Given the description of an element on the screen output the (x, y) to click on. 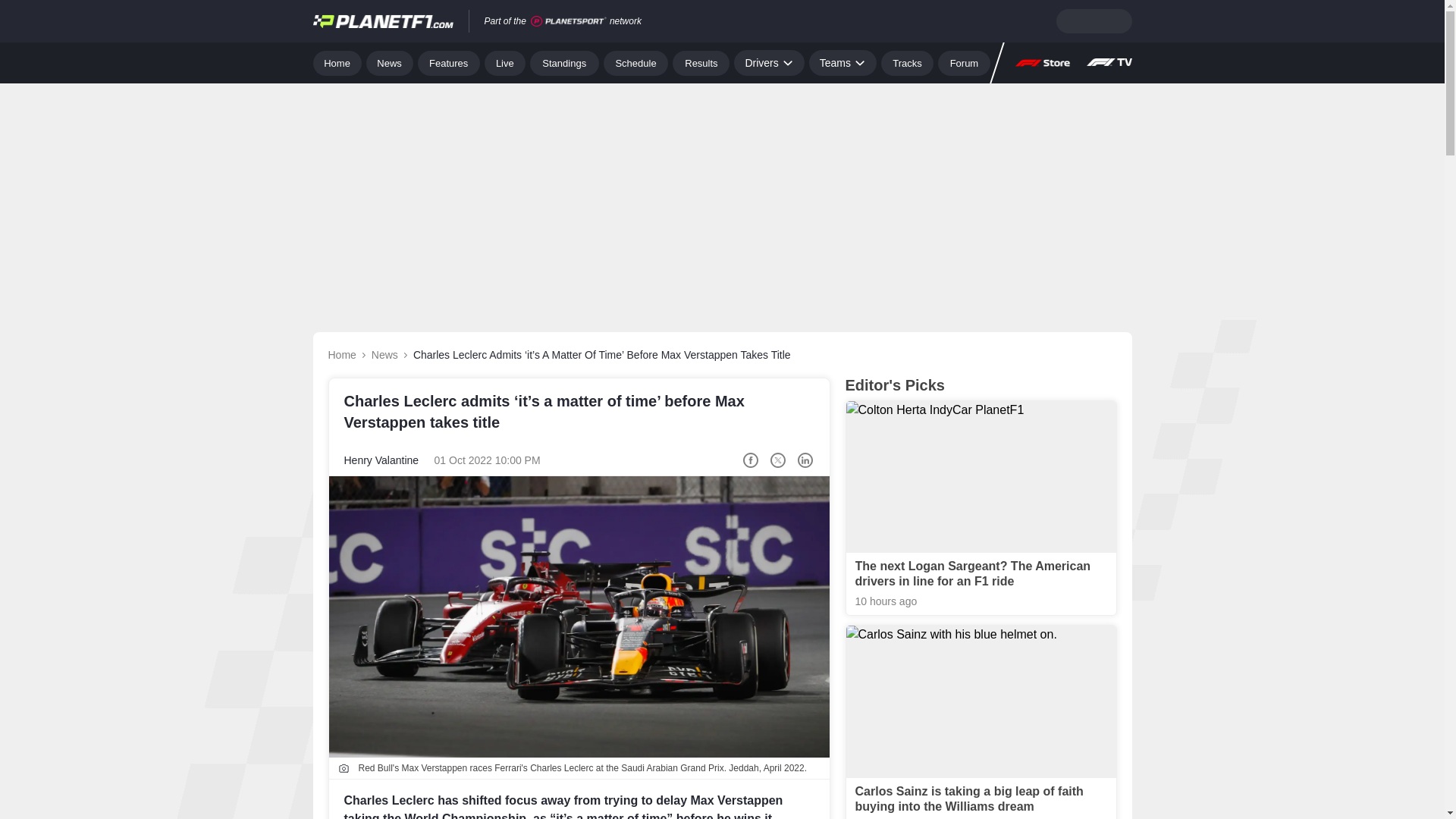
Features (448, 62)
Schedule (636, 62)
Live (504, 62)
Results (700, 62)
Teams (842, 62)
Home (337, 62)
Standings (563, 62)
News (389, 62)
Drivers (768, 62)
